Given the description of an element on the screen output the (x, y) to click on. 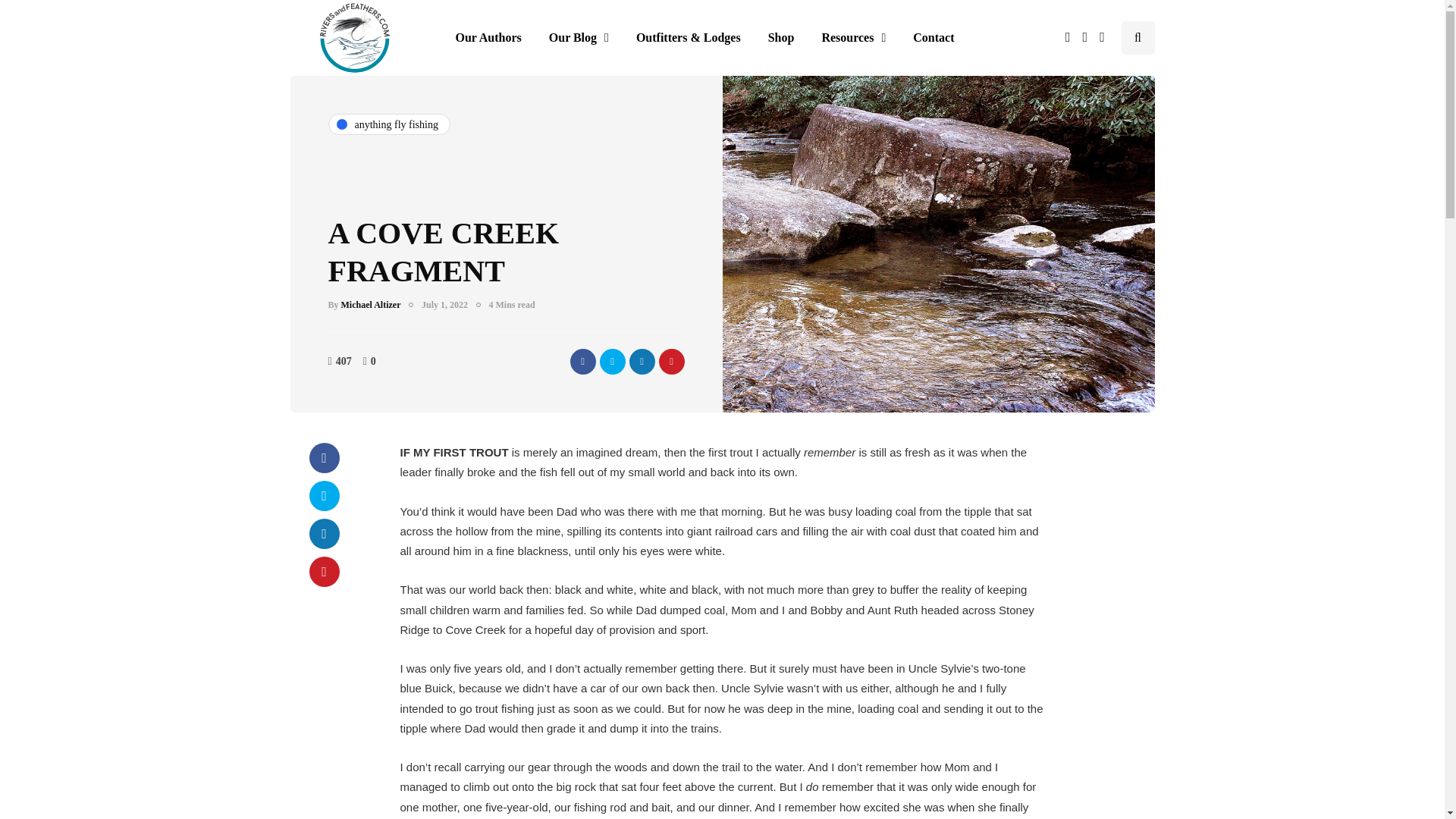
Tweet this (611, 361)
Our Authors (487, 37)
Shop (781, 37)
Share with Facebook (323, 458)
Contact (933, 37)
Share with LinkedIn (641, 361)
anything fly fishing (388, 124)
Michael Altizer (370, 304)
Our Blog (579, 37)
Posts by Michael Altizer (370, 304)
Pin this (671, 361)
Share with Facebook (582, 361)
Resources (853, 37)
Share with LinkedIn (323, 533)
Tweet this (323, 495)
